Given the description of an element on the screen output the (x, y) to click on. 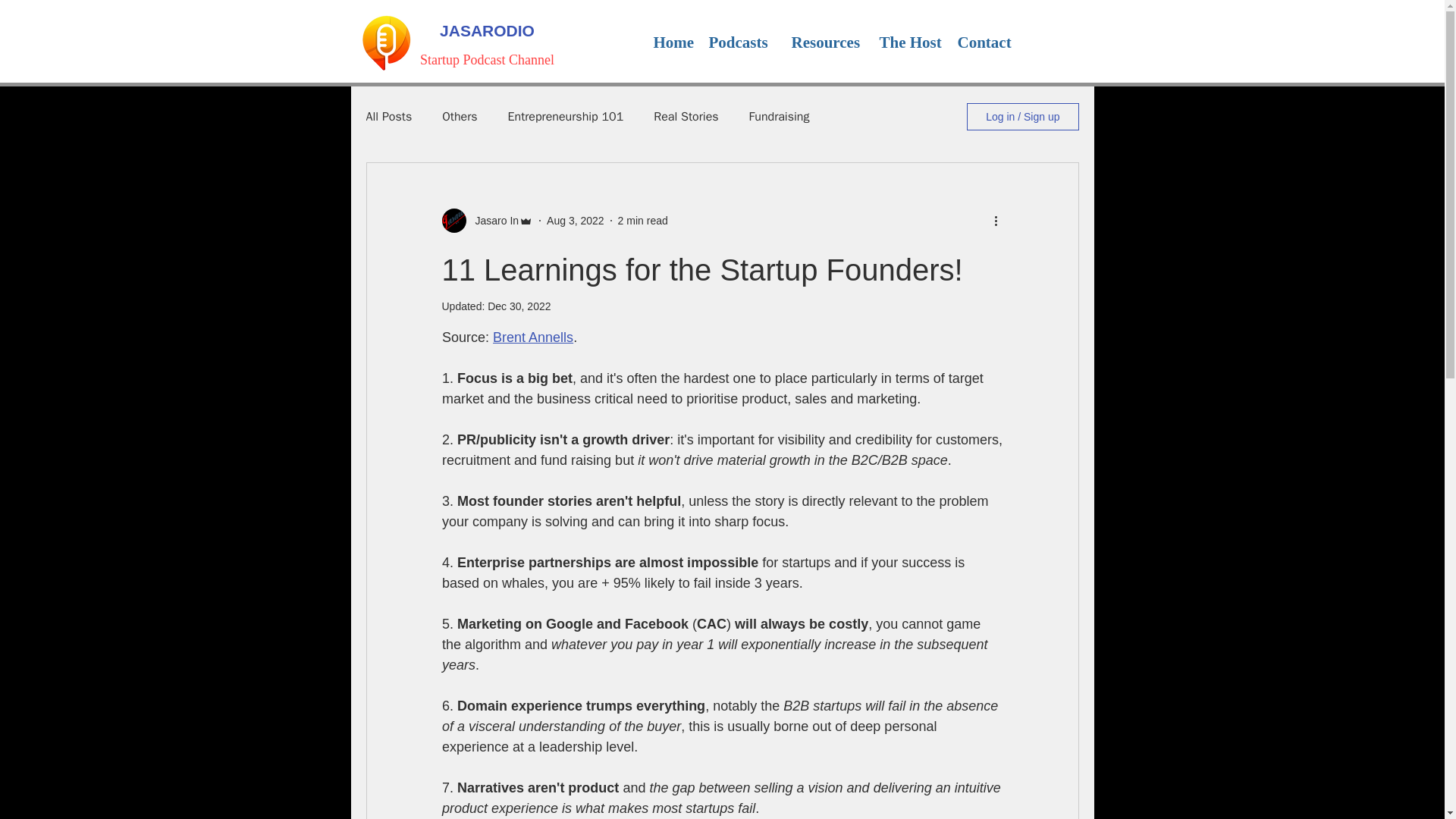
Dec 30, 2022 (518, 306)
JASARODIO (486, 30)
Others (459, 116)
Home (668, 42)
Contact (984, 42)
2 min read (642, 219)
Entrepreneurship 101 (566, 116)
Fundraising (779, 116)
The Host (905, 42)
Real Stories (685, 116)
Aug 3, 2022 (575, 219)
Jasaro In (491, 220)
Brent Annells (533, 337)
All Posts (388, 116)
